Given the description of an element on the screen output the (x, y) to click on. 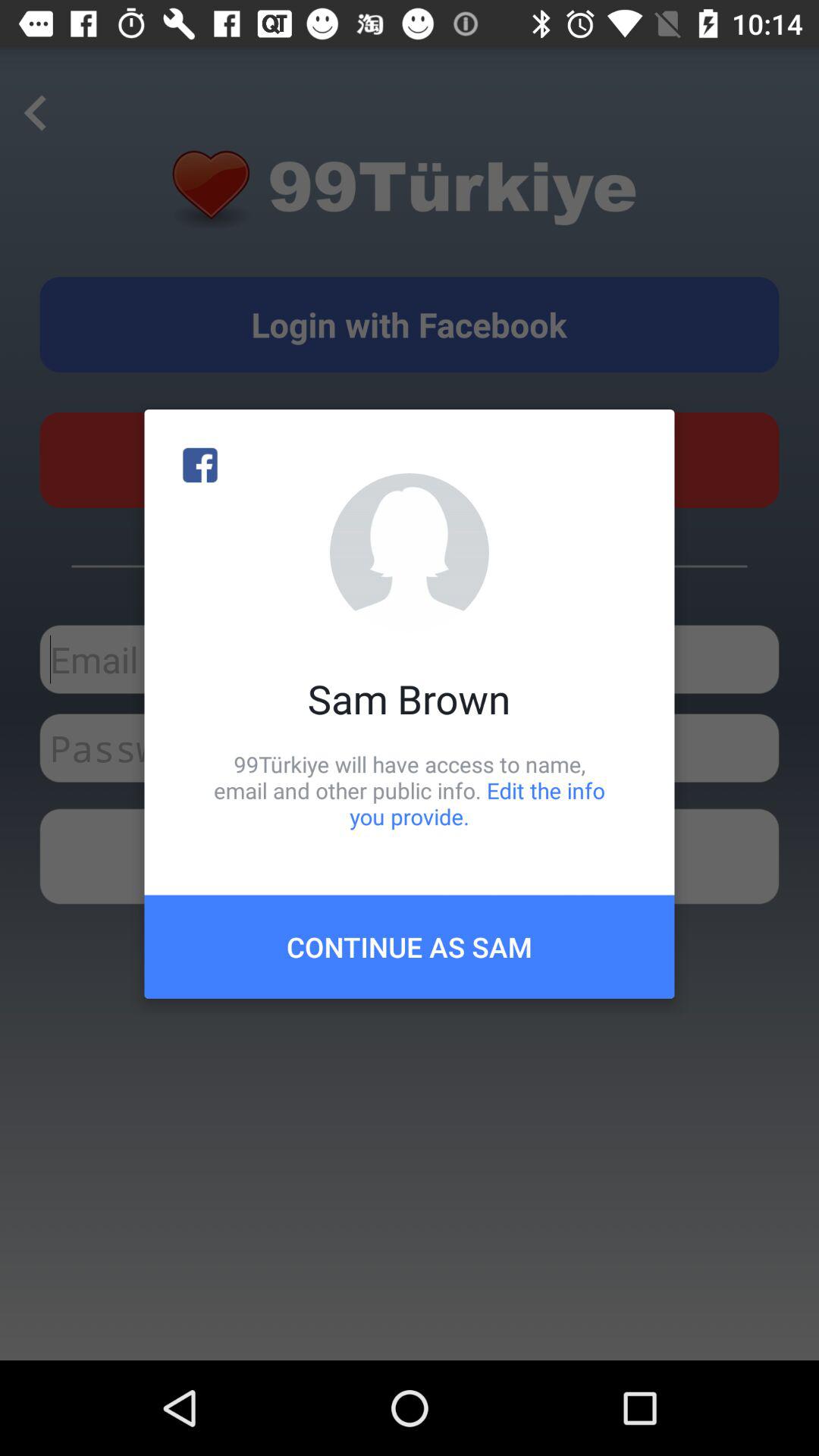
scroll to continue as sam icon (409, 946)
